Given the description of an element on the screen output the (x, y) to click on. 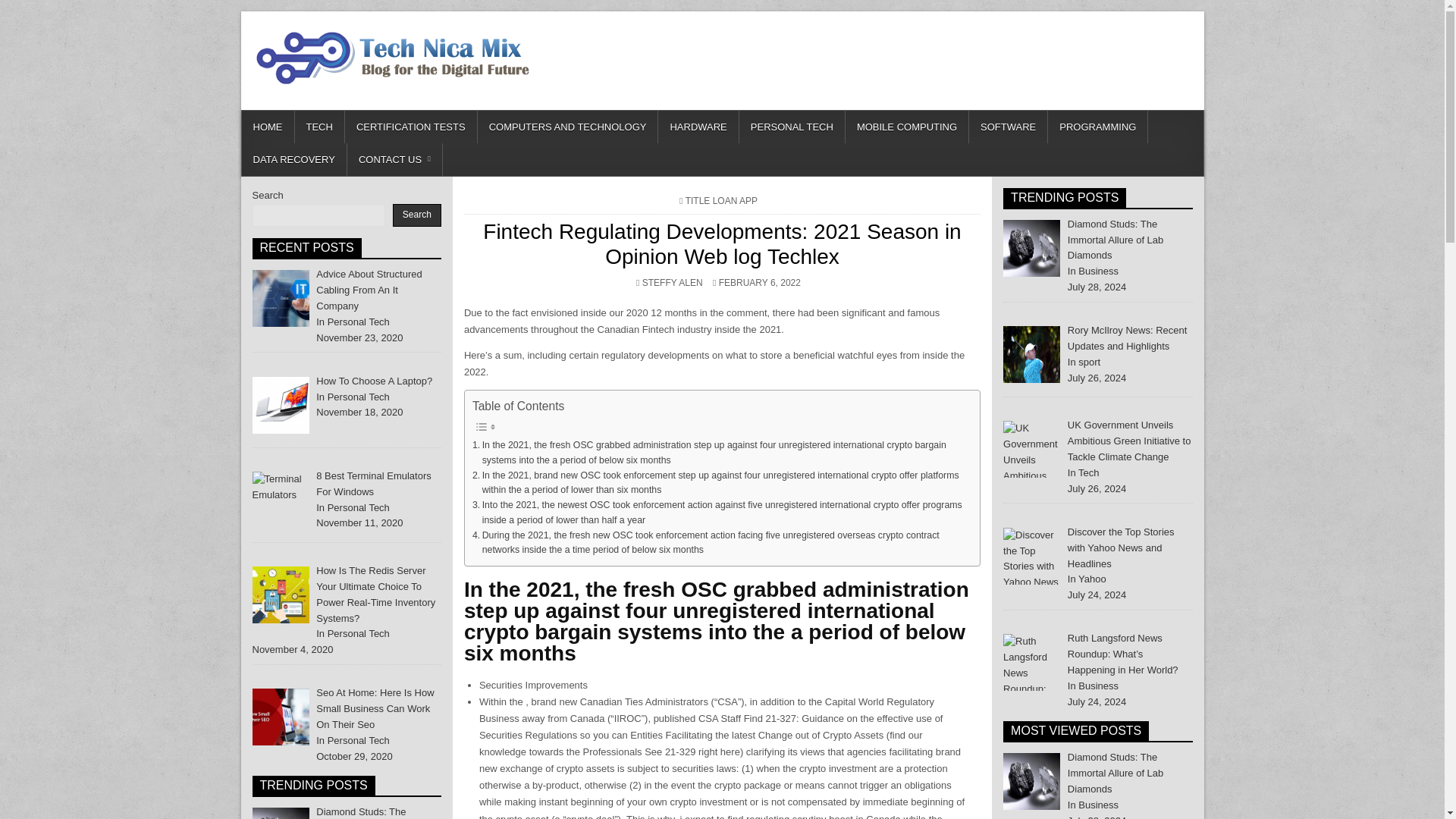
HOME (267, 126)
Search (417, 215)
TECH (318, 126)
Small Business (279, 716)
PERSONAL TECH (792, 126)
